Given the description of an element on the screen output the (x, y) to click on. 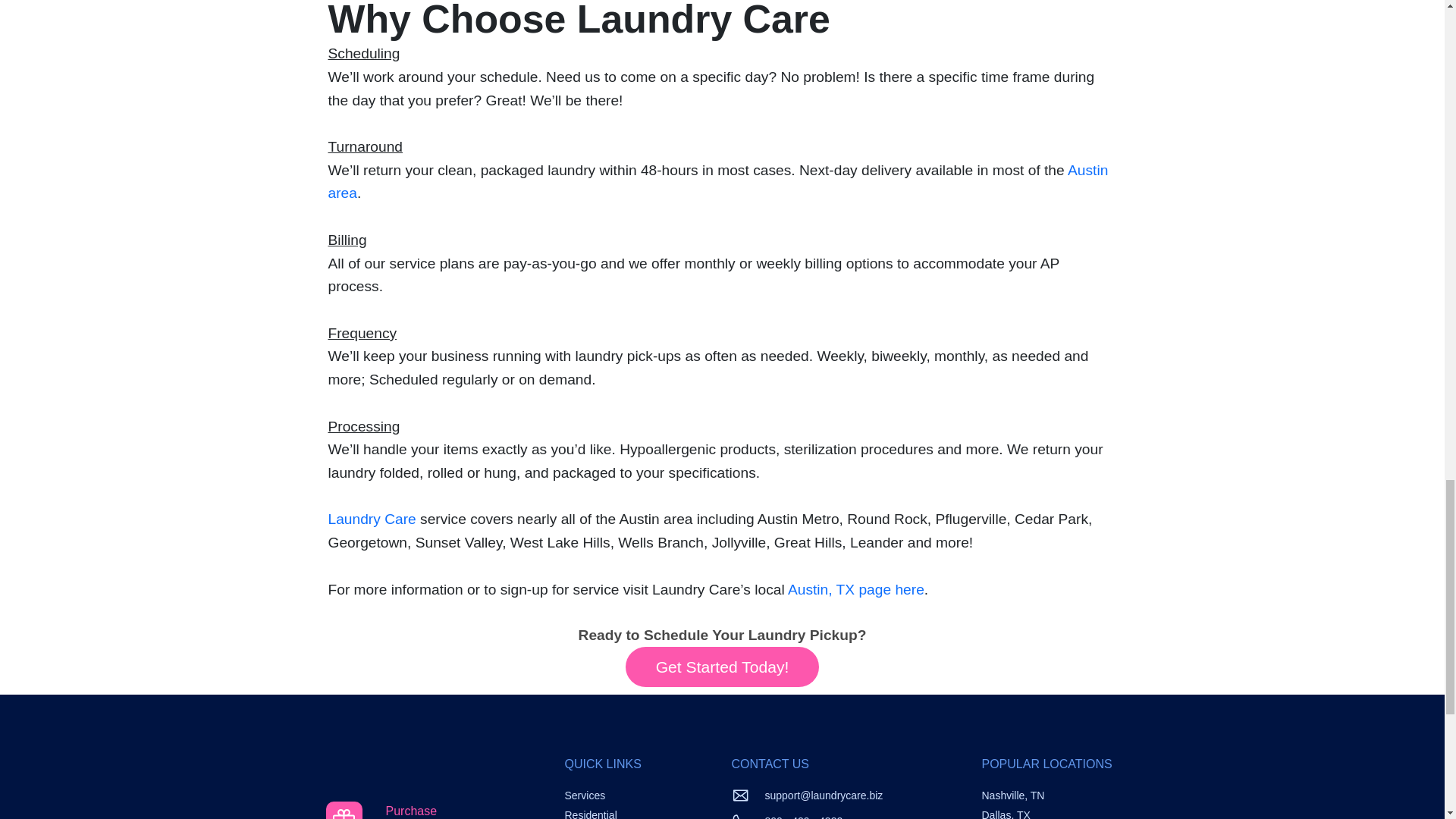
Austin area (717, 181)
Get Started Today! (722, 667)
Residential (589, 814)
Services (584, 795)
Austin, TX page here (381, 809)
Laundry Care (855, 589)
